Given the description of an element on the screen output the (x, y) to click on. 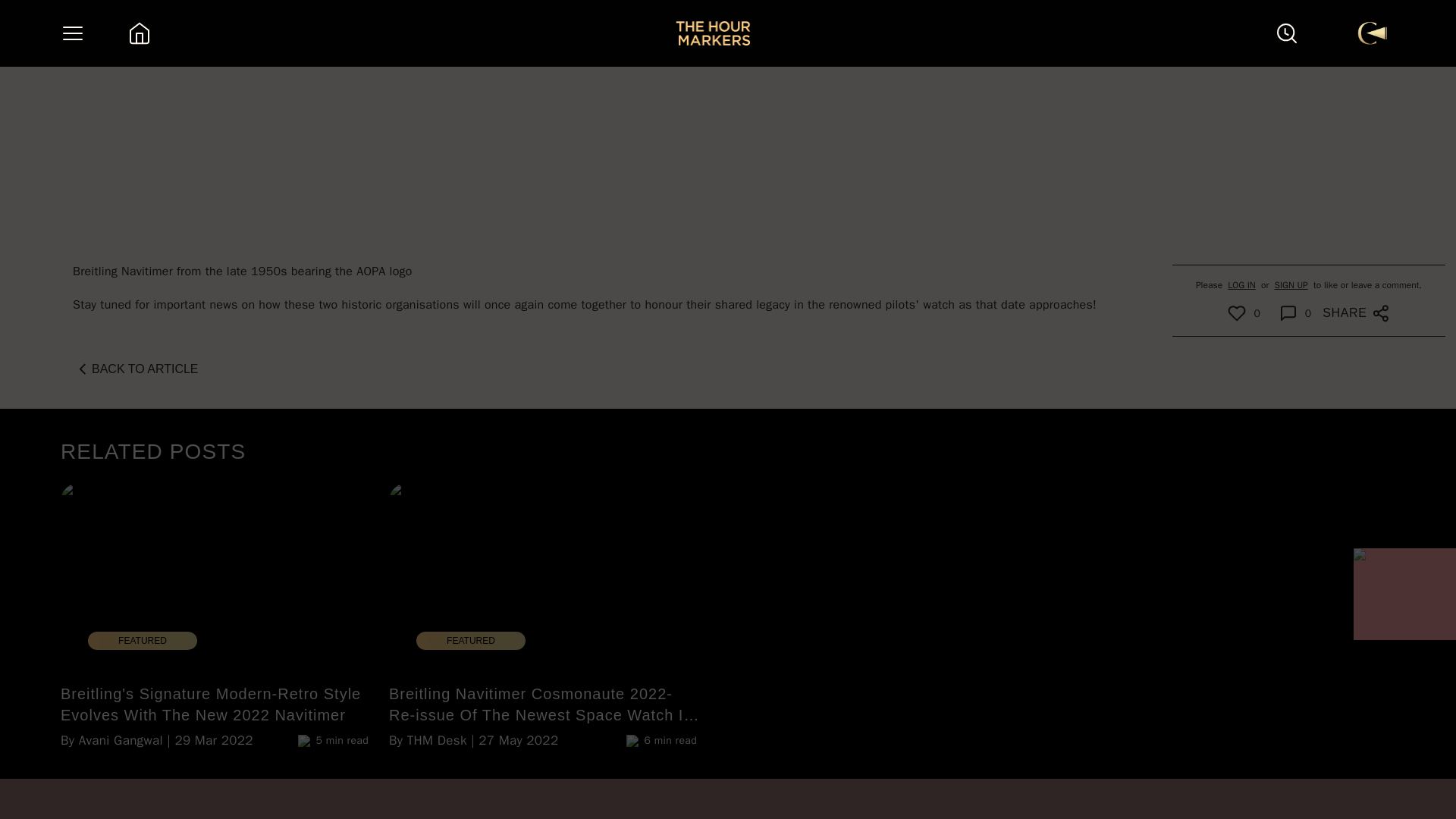
BACK TO ARTICLE (135, 368)
LOG IN (1241, 285)
SIGN UP (1290, 285)
